Given the description of an element on the screen output the (x, y) to click on. 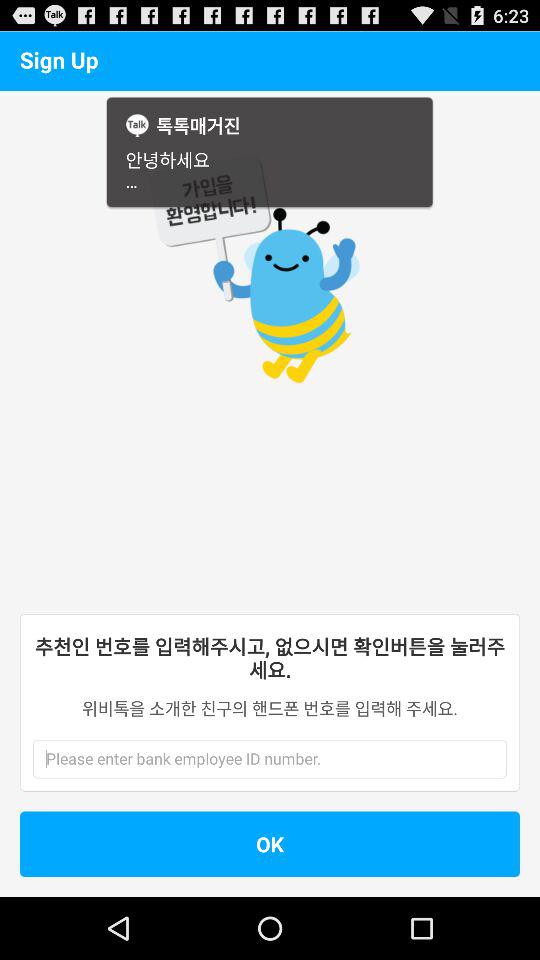
employee id entry area (249, 759)
